Given the description of an element on the screen output the (x, y) to click on. 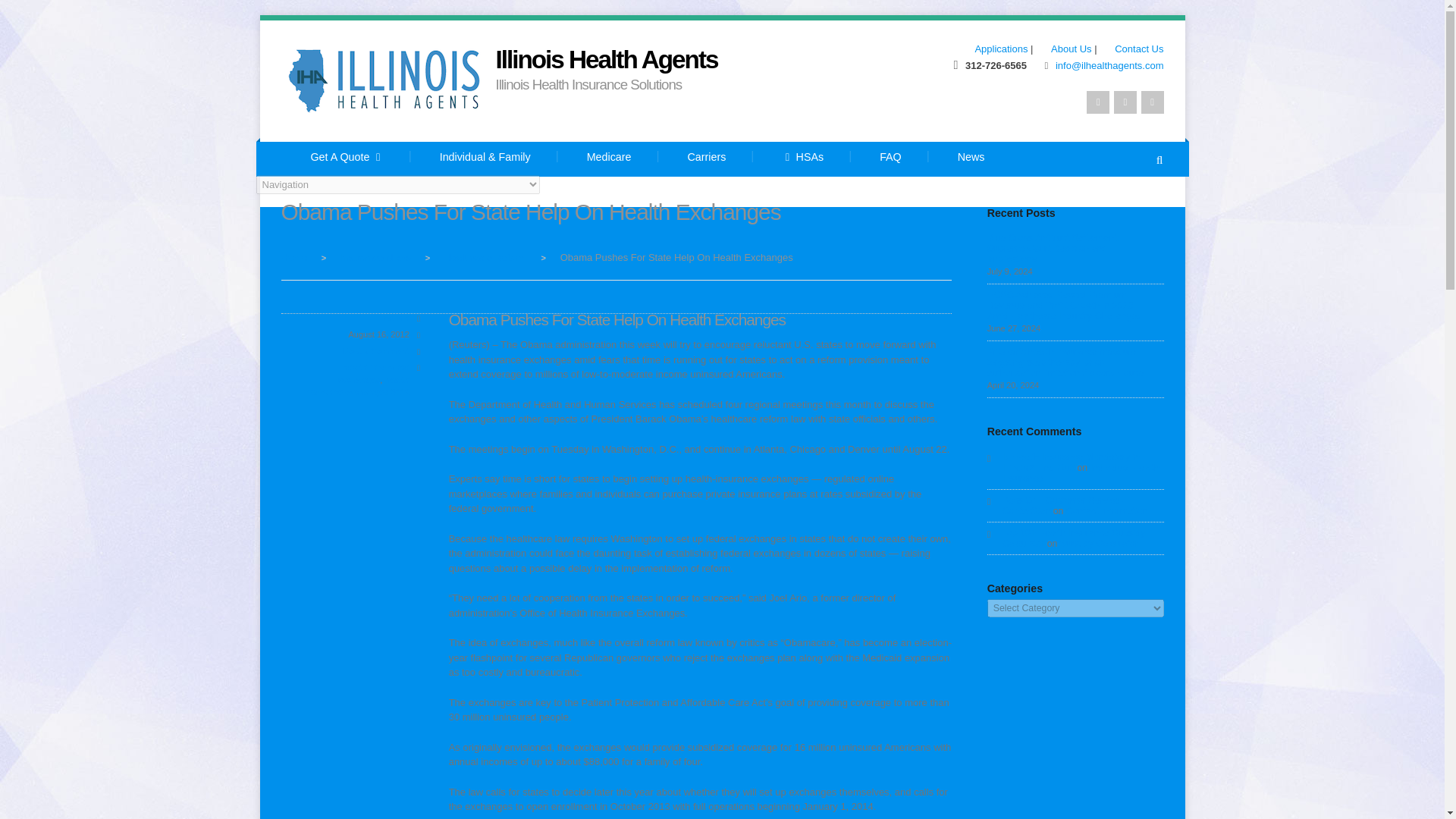
Illinois Health Agents (606, 59)
Get A Quote (346, 159)
Applications (993, 48)
Posts by Admin (396, 317)
Insurance News (375, 256)
About Us (1062, 48)
Illinois Health Agents (294, 256)
Carriers (706, 159)
Facebook (1125, 101)
Medicare (609, 159)
